Given the description of an element on the screen output the (x, y) to click on. 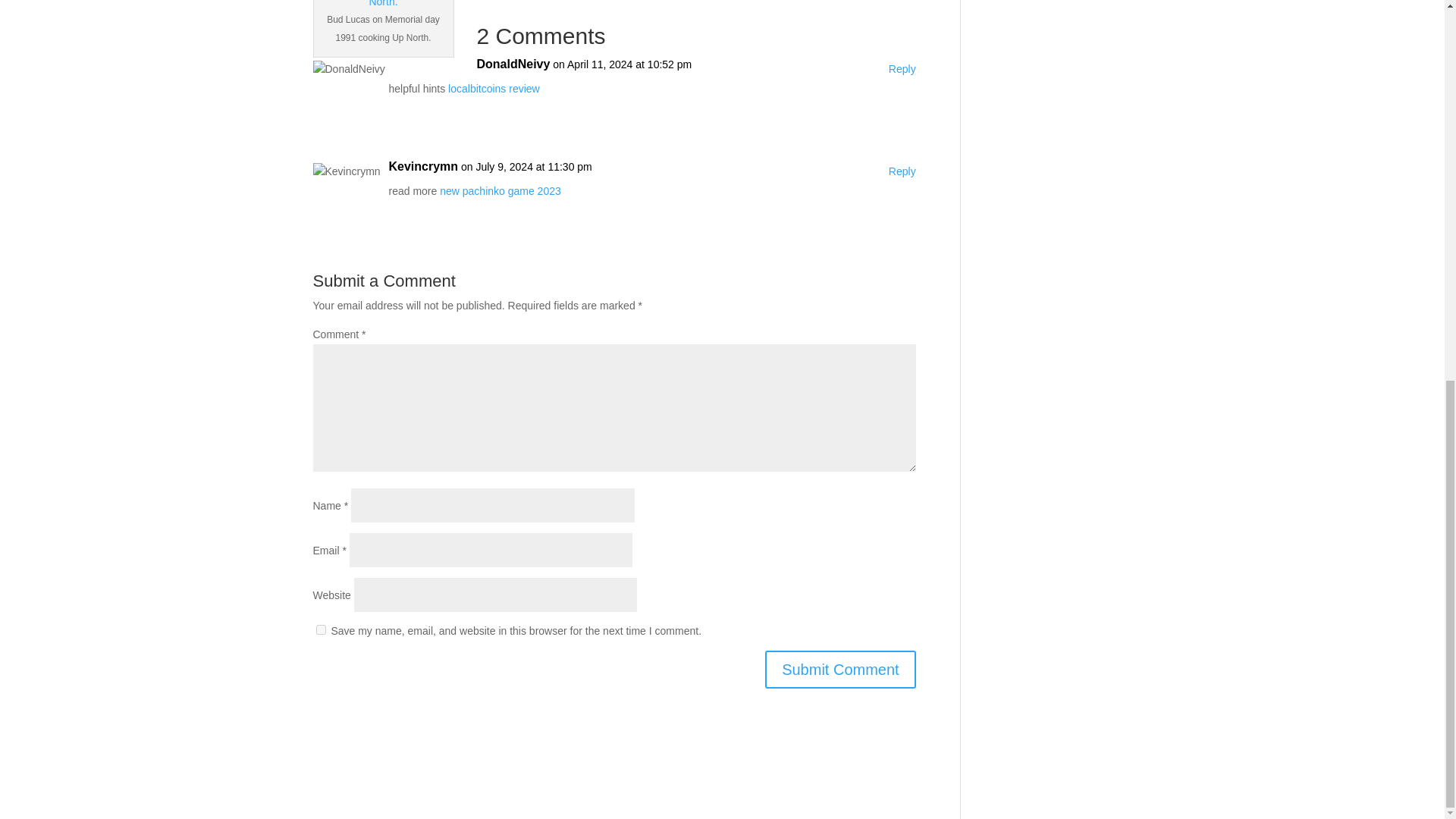
Submit Comment (840, 669)
Submit Comment (840, 669)
Kevincrymn (423, 167)
DonaldNeivy (513, 64)
new pachinko game 2023 (499, 191)
Reply (901, 171)
Reply (901, 69)
yes (319, 629)
localbitcoins review (494, 88)
